Given the description of an element on the screen output the (x, y) to click on. 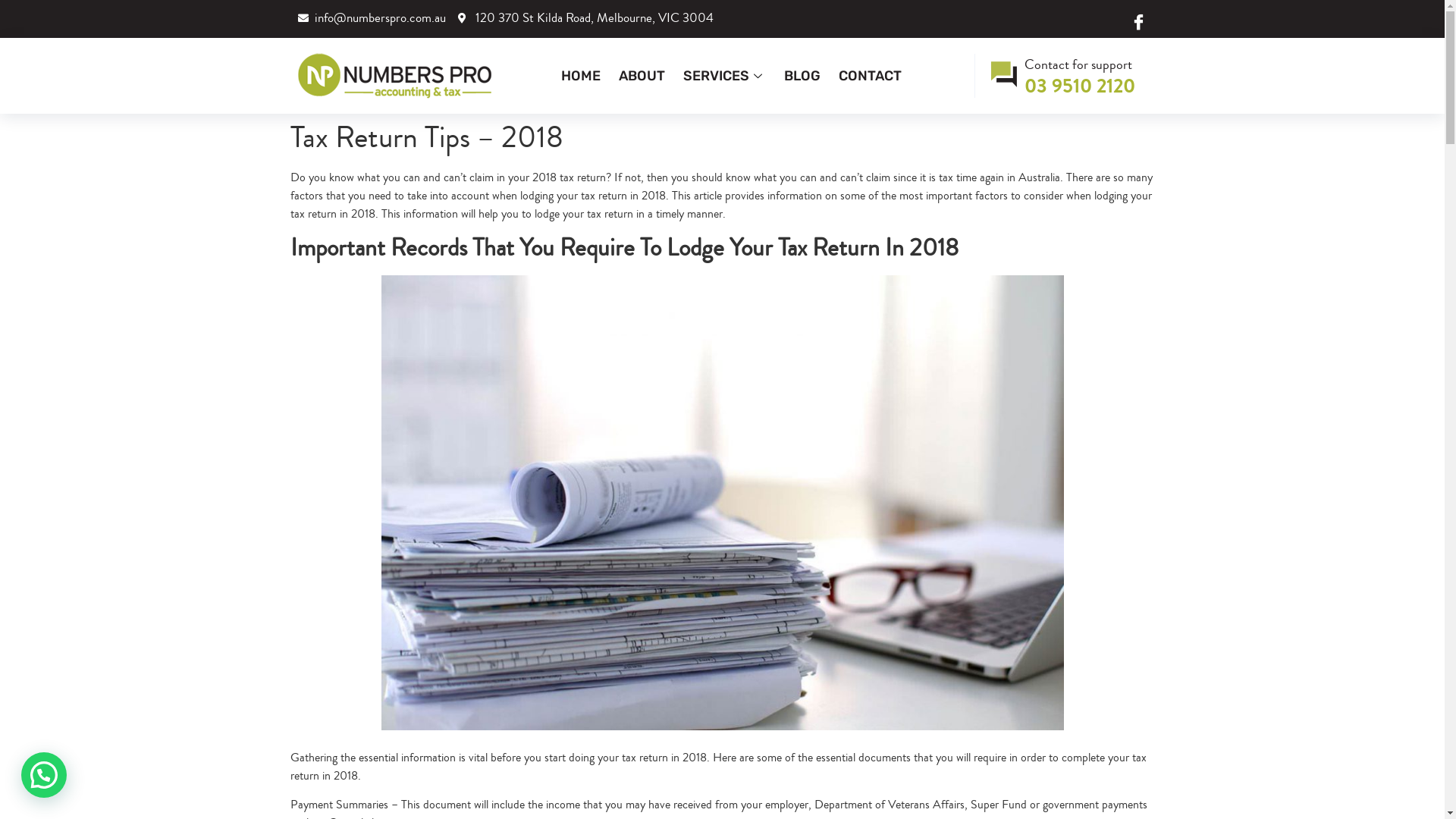
CONTACT Element type: text (869, 75)
SERVICES Element type: text (723, 75)
info@numberspro.com.au Element type: text (371, 17)
120 370 St Kilda Road, Melbourne, VIC 3004 Element type: text (585, 17)
Contact for support
03 9510 2120 Element type: text (1065, 75)
BLOG Element type: text (802, 75)
ABOUT Element type: text (641, 75)
HOME Element type: text (580, 75)
